Given the description of an element on the screen output the (x, y) to click on. 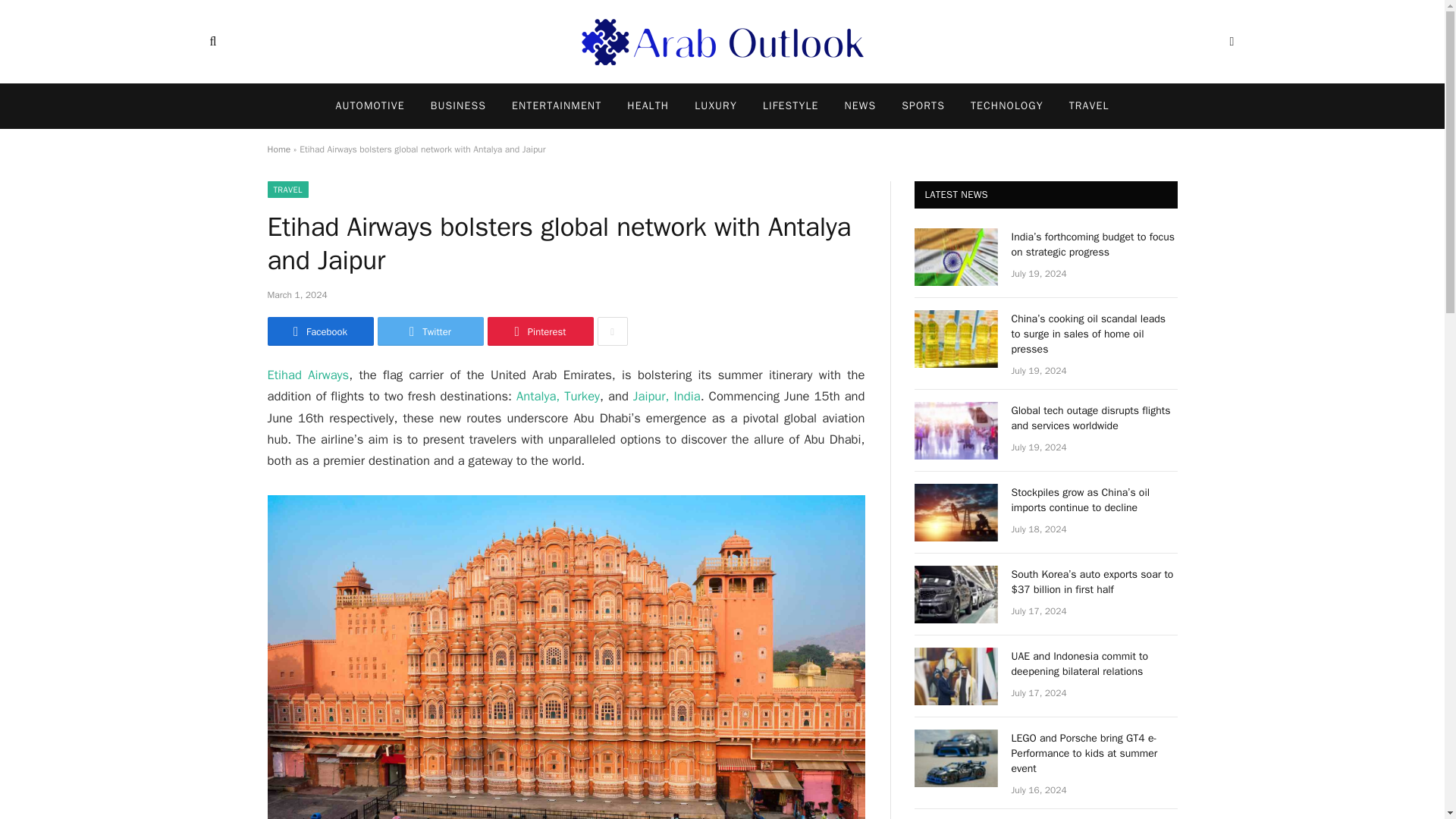
Arab Outlook (721, 40)
HEALTH (647, 105)
Share on Facebook (319, 330)
LUXURY (715, 105)
TECHNOLOGY (1007, 105)
BUSINESS (458, 105)
TRAVEL (1089, 105)
NEWS (859, 105)
TRAVEL (286, 189)
Switch to Dark Design - easier on eyes. (1230, 41)
Pinterest (539, 330)
Home (277, 149)
SPORTS (923, 105)
Etihad Airways (307, 374)
Facebook (319, 330)
